Given the description of an element on the screen output the (x, y) to click on. 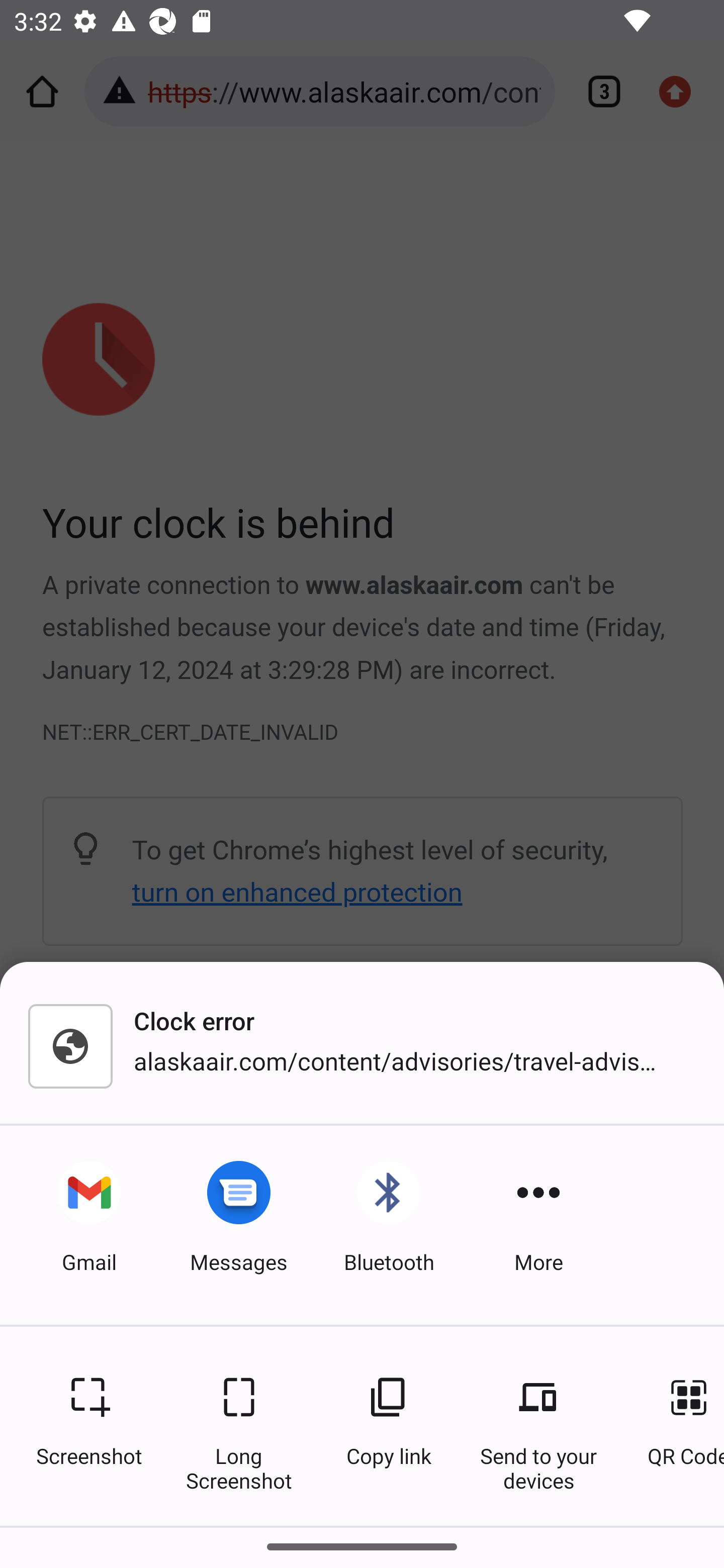
Gmail (88, 1224)
Messages (238, 1224)
Bluetooth (388, 1224)
More (538, 1224)
Screenshot (88, 1425)
Long Screenshot (238, 1425)
Copy link (388, 1425)
Send to your devices (538, 1425)
QR Code (675, 1425)
